Given the description of an element on the screen output the (x, y) to click on. 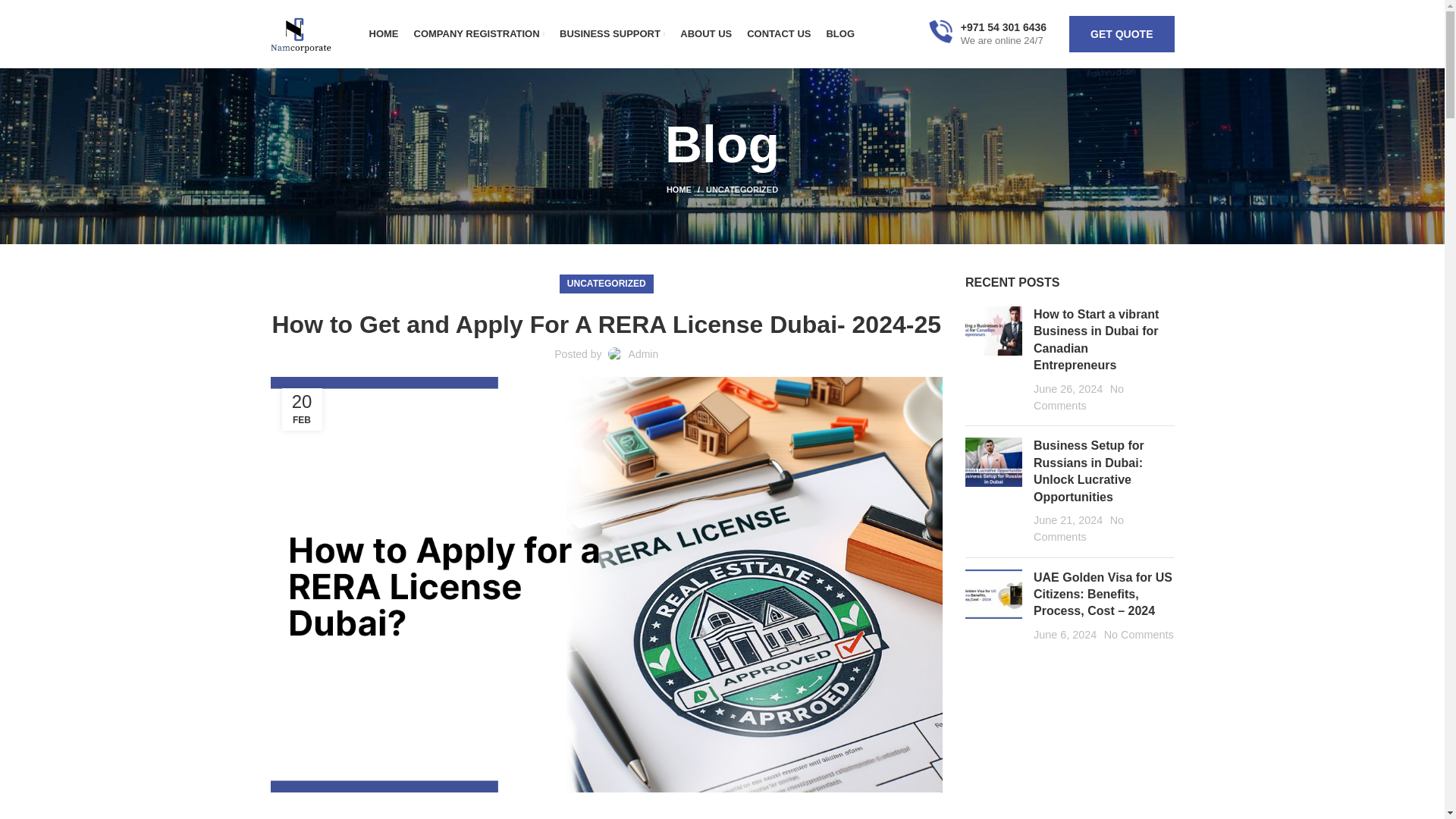
ABOUT US (705, 33)
GET QUOTE (1120, 33)
UNCATEGORIZED (606, 283)
Admin (643, 354)
CONTACT US (778, 33)
COMPANY REGISTRATION (478, 33)
BLOG (839, 33)
HOME (686, 189)
UNCATEGORIZED (741, 189)
HOME (382, 33)
BUSINESS SUPPORT (612, 33)
